Given the description of an element on the screen output the (x, y) to click on. 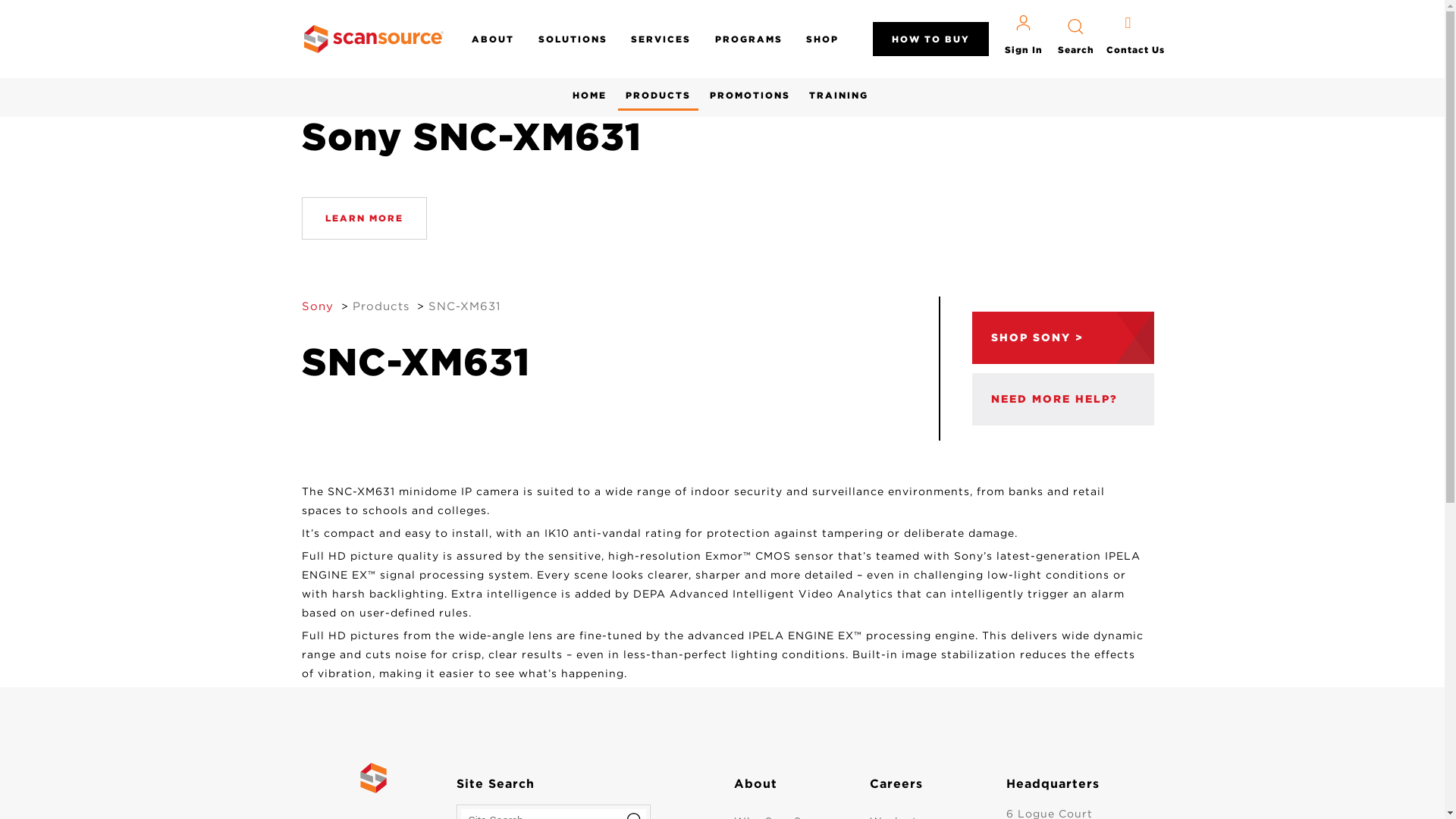
Resources (839, 90)
Sony (589, 90)
Products (657, 91)
Products (380, 305)
Become a customer (1063, 399)
Shop Sony (1063, 337)
ABOUT (492, 38)
SOLUTIONS (572, 38)
SNCXM631 (463, 305)
